Given the description of an element on the screen output the (x, y) to click on. 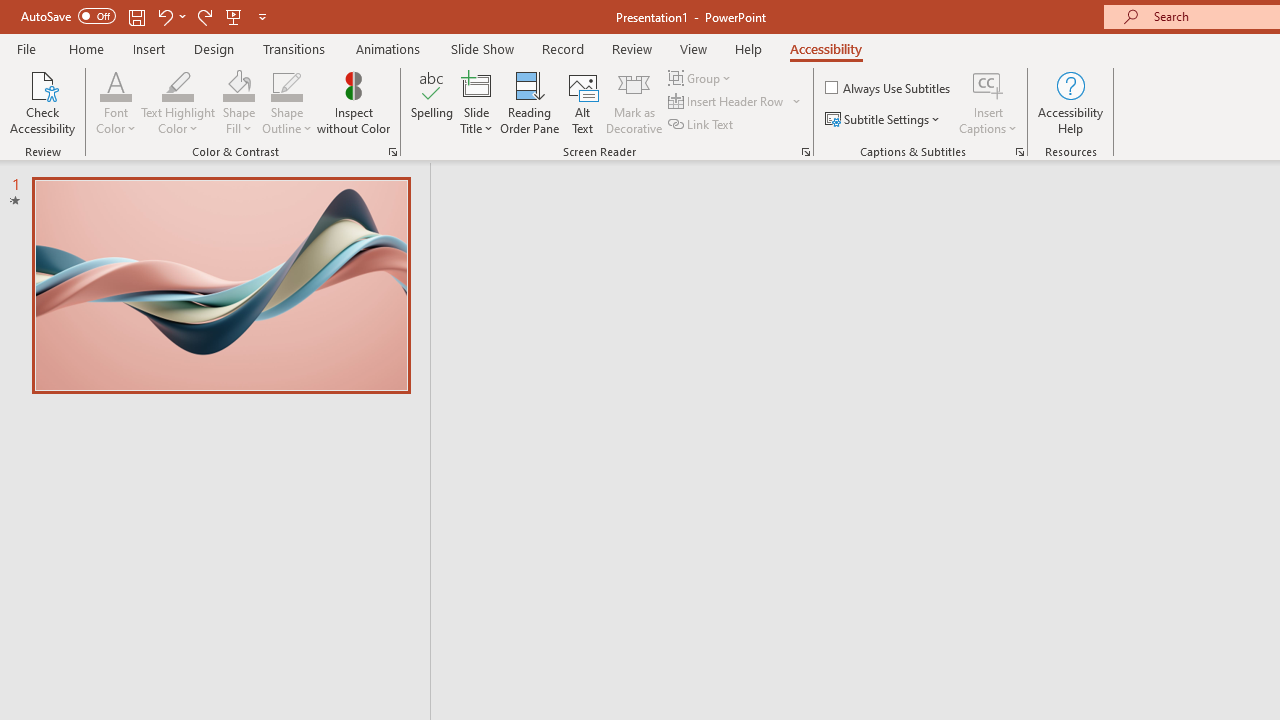
Subtitle Settings (884, 119)
Slide Title (476, 102)
Insert Header Row (727, 101)
Link Text (702, 124)
Insert Captions (988, 102)
Shape Outline Blue, Accent 1 (286, 84)
Inspect without Color (353, 102)
Shape Fill Orange, Accent 2 (238, 84)
